Given the description of an element on the screen output the (x, y) to click on. 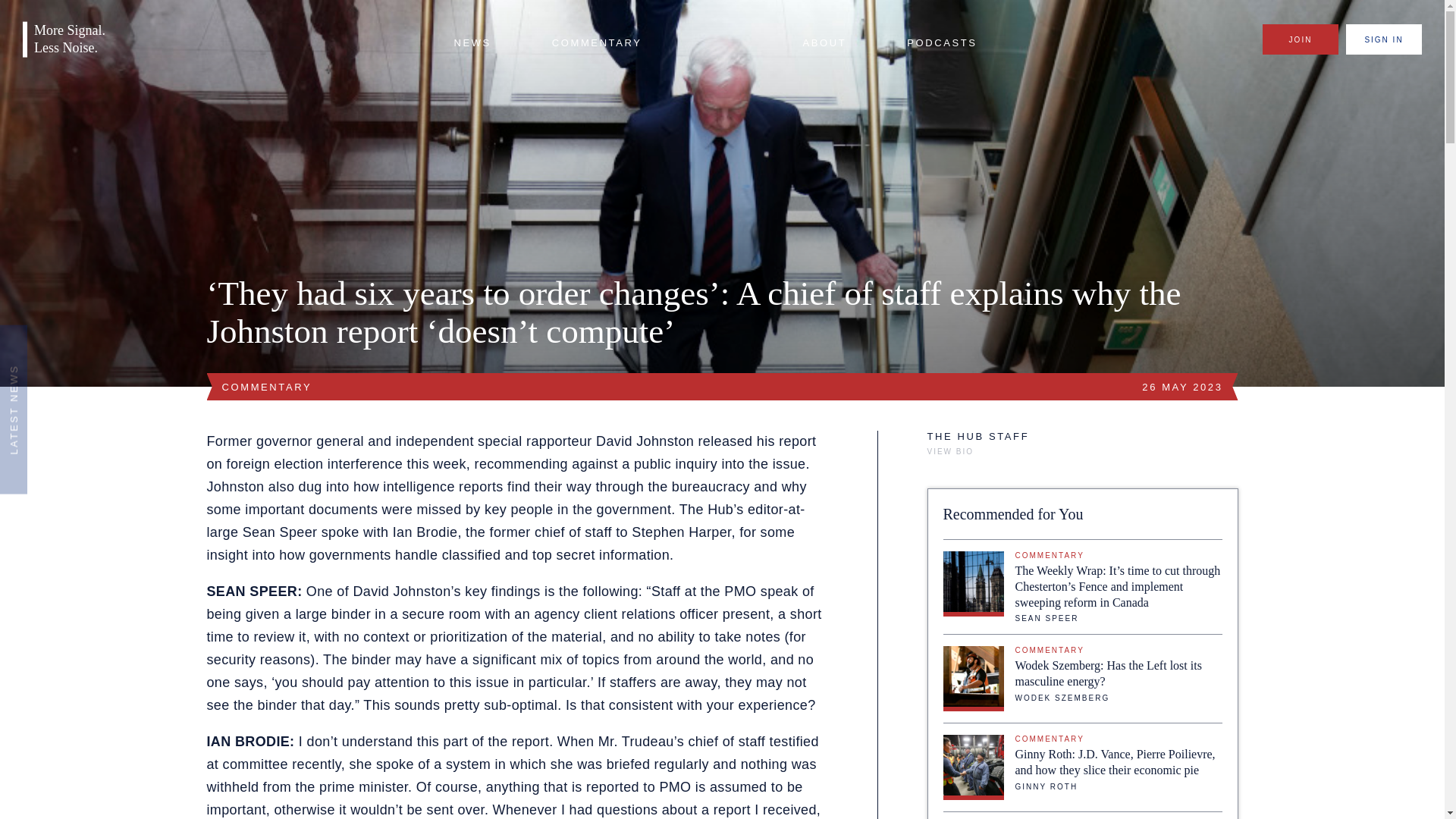
PODCASTS (941, 43)
COMMENTARY (596, 43)
SIGN IN (1383, 39)
NEWS (471, 43)
JOIN (1300, 39)
ABOUT (823, 43)
THE HUB STAFF (977, 436)
